Given the description of an element on the screen output the (x, y) to click on. 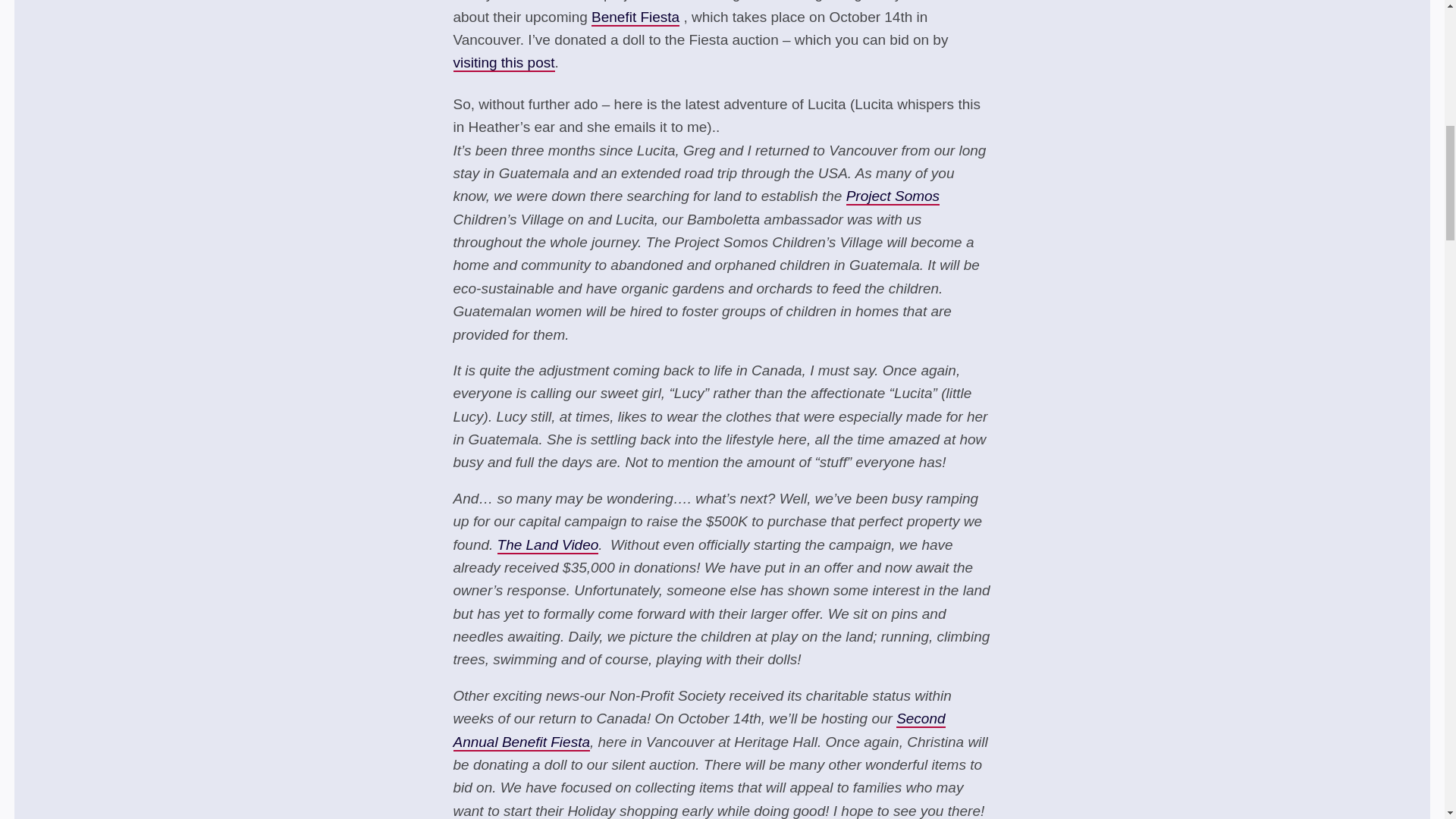
visiting this post (503, 63)
Second Annual Benefit Fiesta (698, 730)
The Land Video (547, 545)
Project Somos (892, 196)
Benefit Fiesta (635, 17)
